Given the description of an element on the screen output the (x, y) to click on. 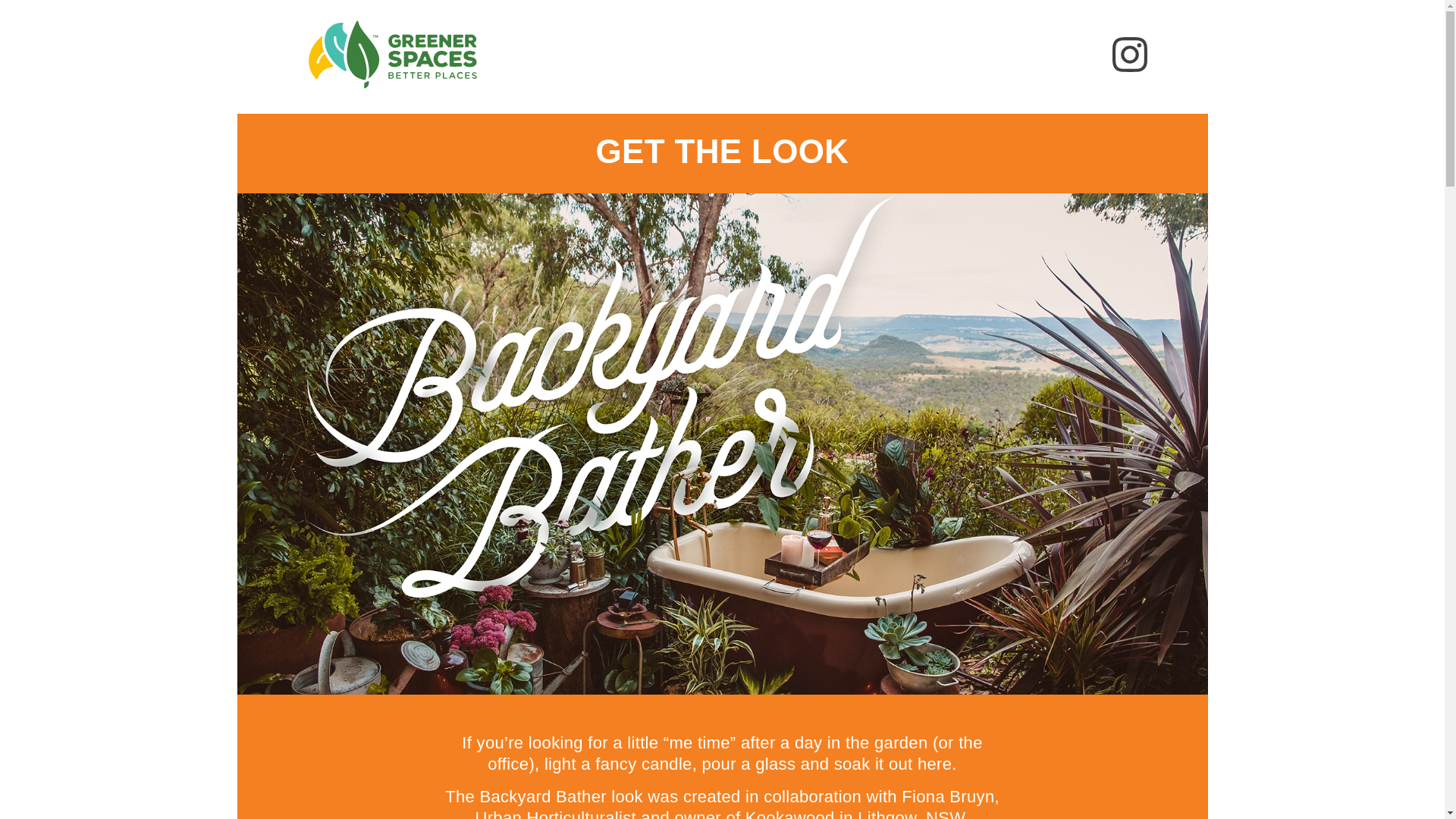
Greener Spaces (391, 95)
